Given the description of an element on the screen output the (x, y) to click on. 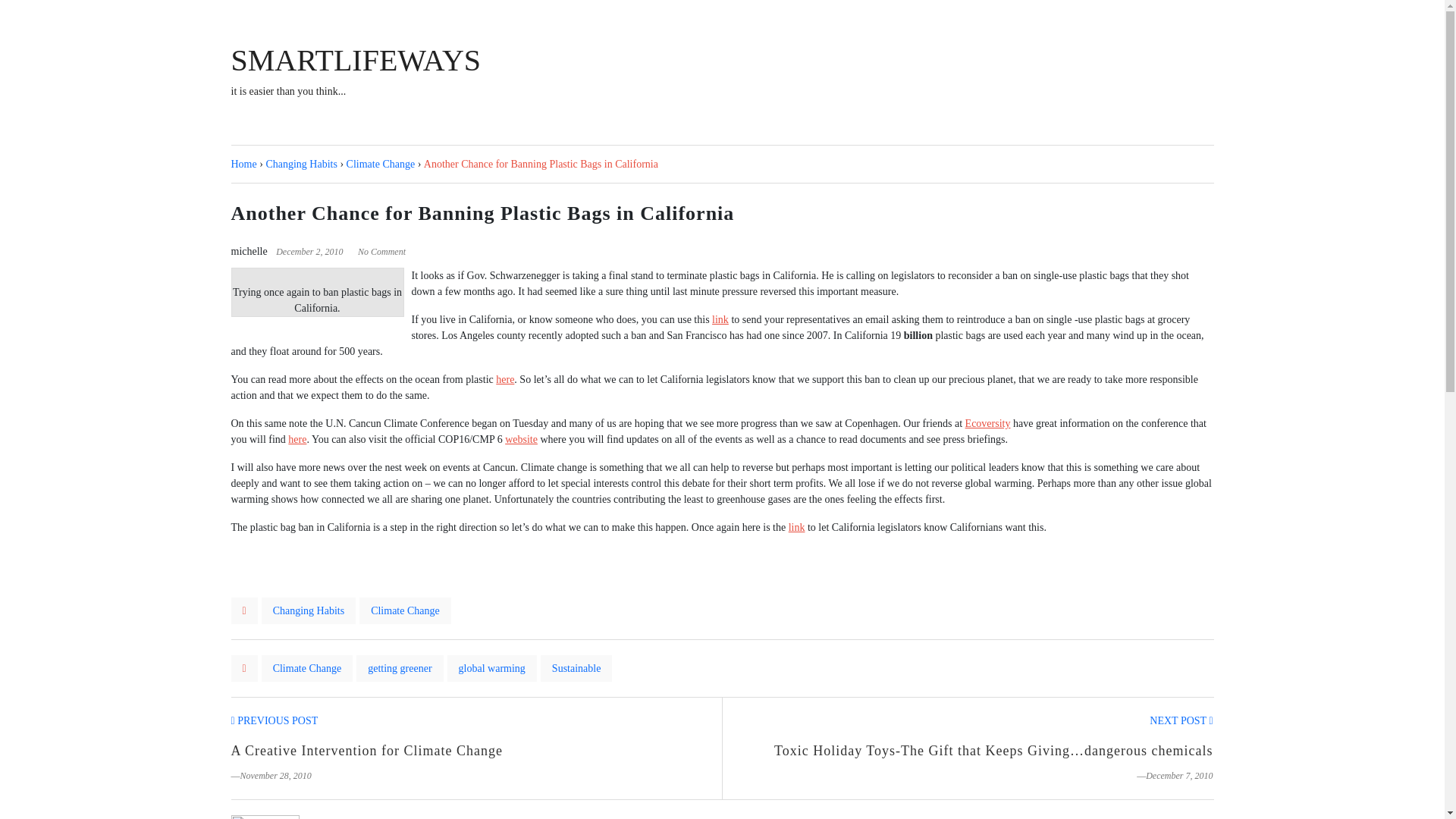
A Creative Intervention for Climate Change (273, 720)
global warming (491, 668)
link (720, 319)
A Creative Intervention for Climate Change (366, 750)
Another Chance for Banning Plastic Bags in California (540, 163)
Ecoversity (987, 423)
link (797, 527)
Home (243, 163)
website (521, 439)
MICHELLE (390, 818)
